Given the description of an element on the screen output the (x, y) to click on. 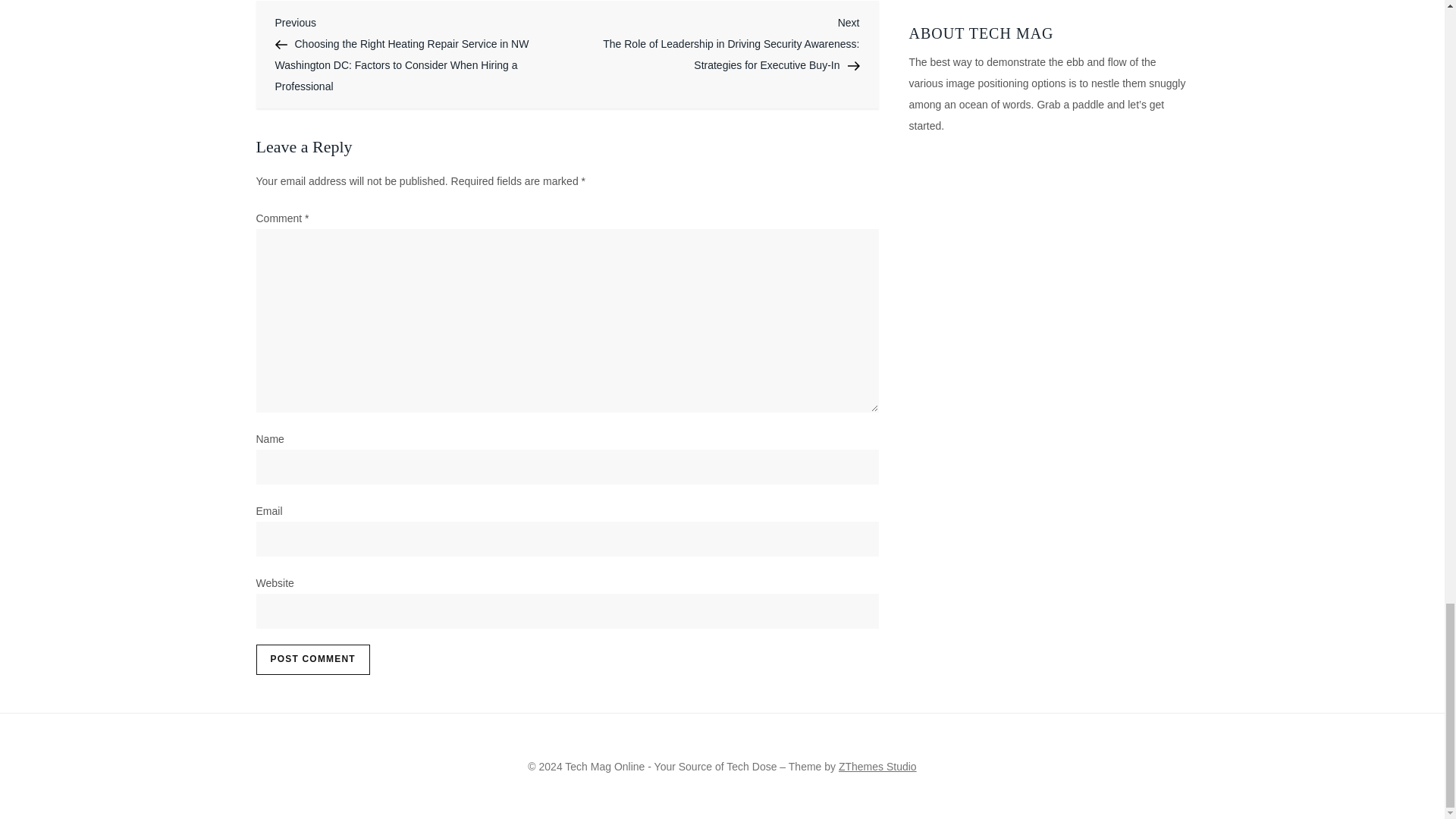
Post Comment (312, 659)
ZThemes Studio (877, 766)
Post Comment (312, 659)
